Given the description of an element on the screen output the (x, y) to click on. 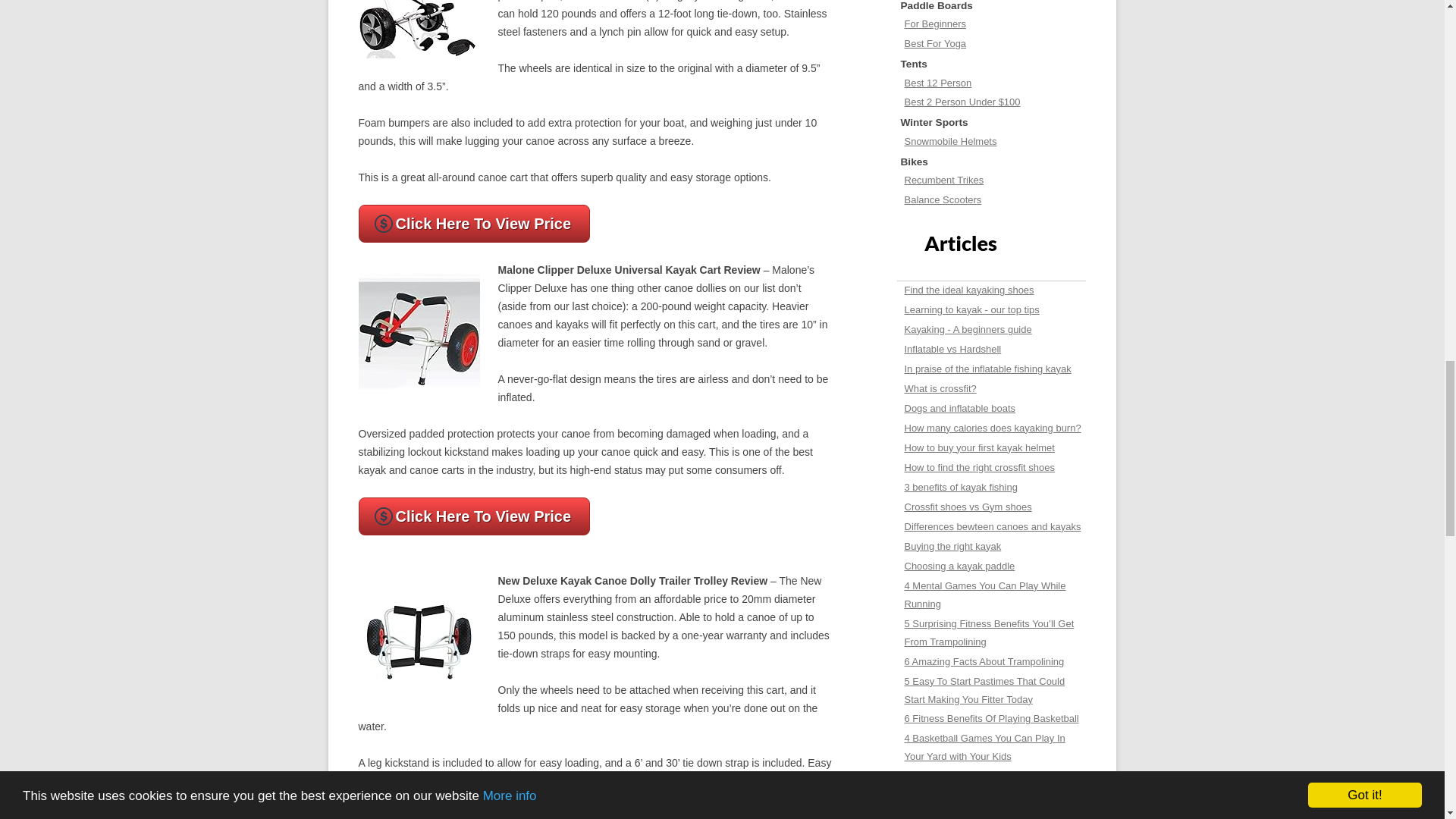
Click Here To View Price (473, 813)
Click Here To View Price (473, 223)
Click Here To View Price (473, 516)
